Given the description of an element on the screen output the (x, y) to click on. 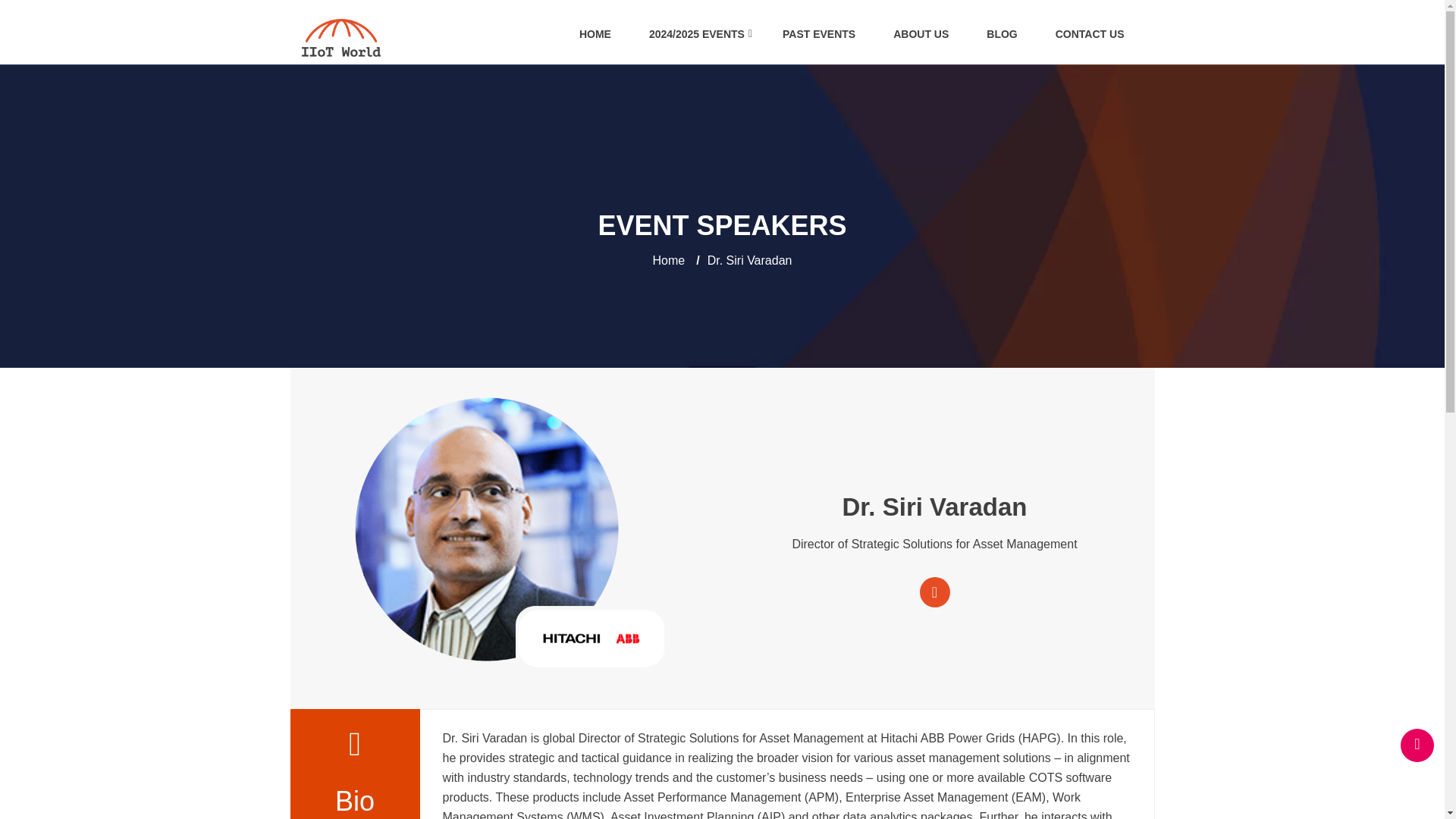
PAST EVENTS (818, 34)
Home (668, 259)
CONTACT US (1089, 34)
ABOUT US (920, 34)
